Given the description of an element on the screen output the (x, y) to click on. 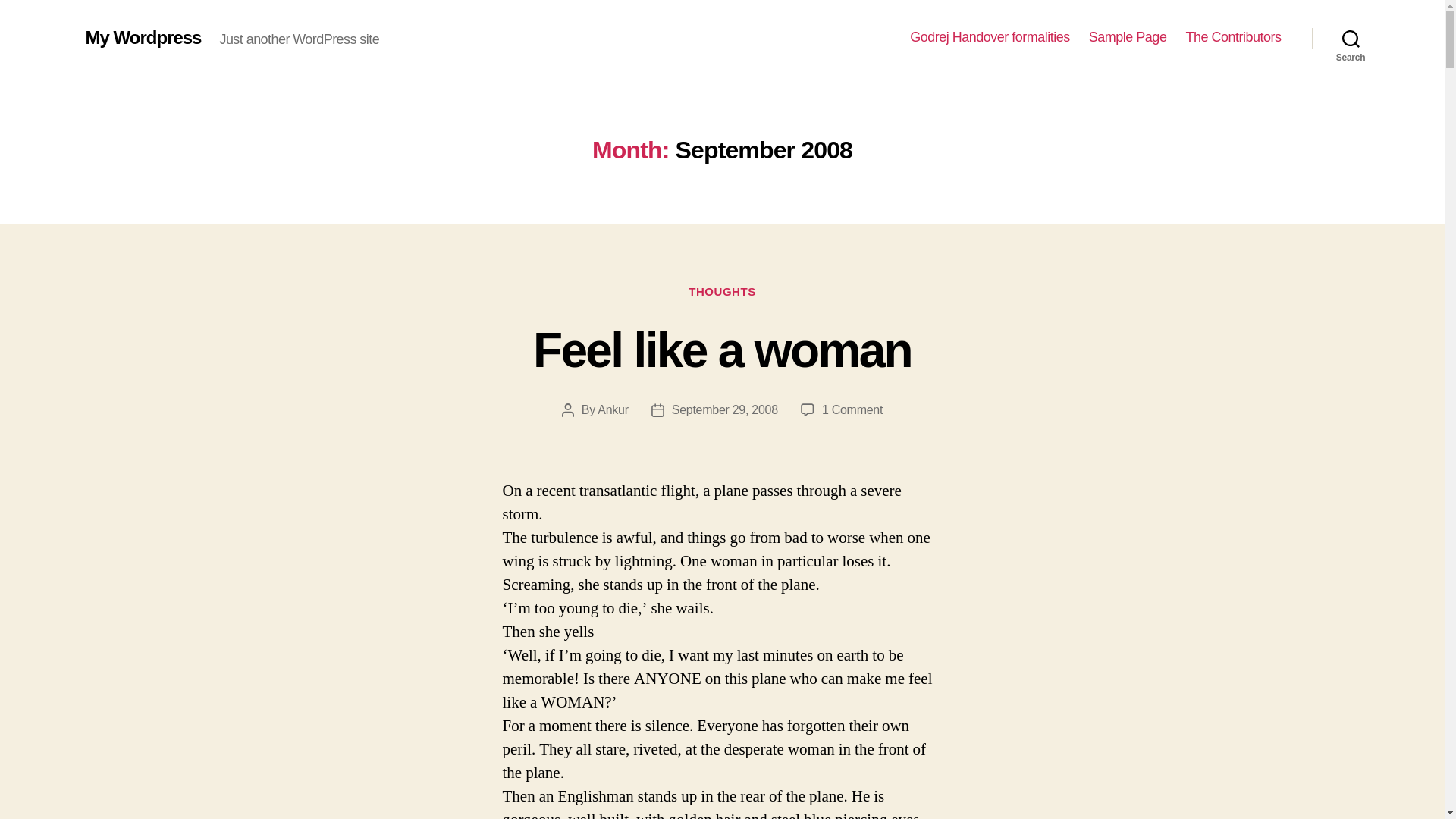
The Contributors (1233, 37)
Feel like a woman (721, 349)
THOUGHTS (721, 292)
My Wordpress (142, 37)
Ankur (611, 409)
Search (1350, 37)
September 29, 2008 (724, 409)
Godrej Handover formalities (852, 409)
Sample Page (990, 37)
